Given the description of an element on the screen output the (x, y) to click on. 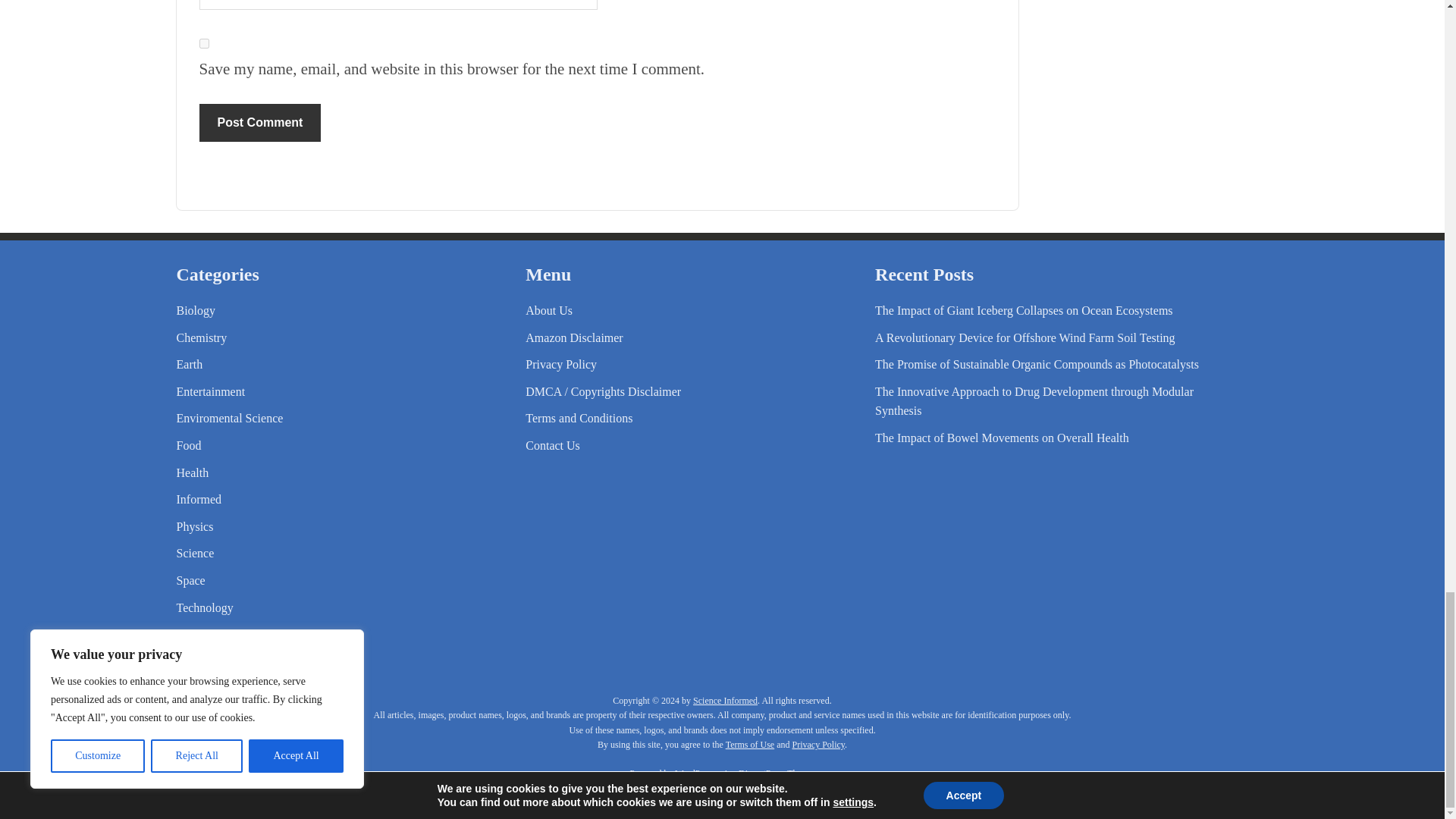
yes (203, 43)
Post Comment (259, 122)
